Given the description of an element on the screen output the (x, y) to click on. 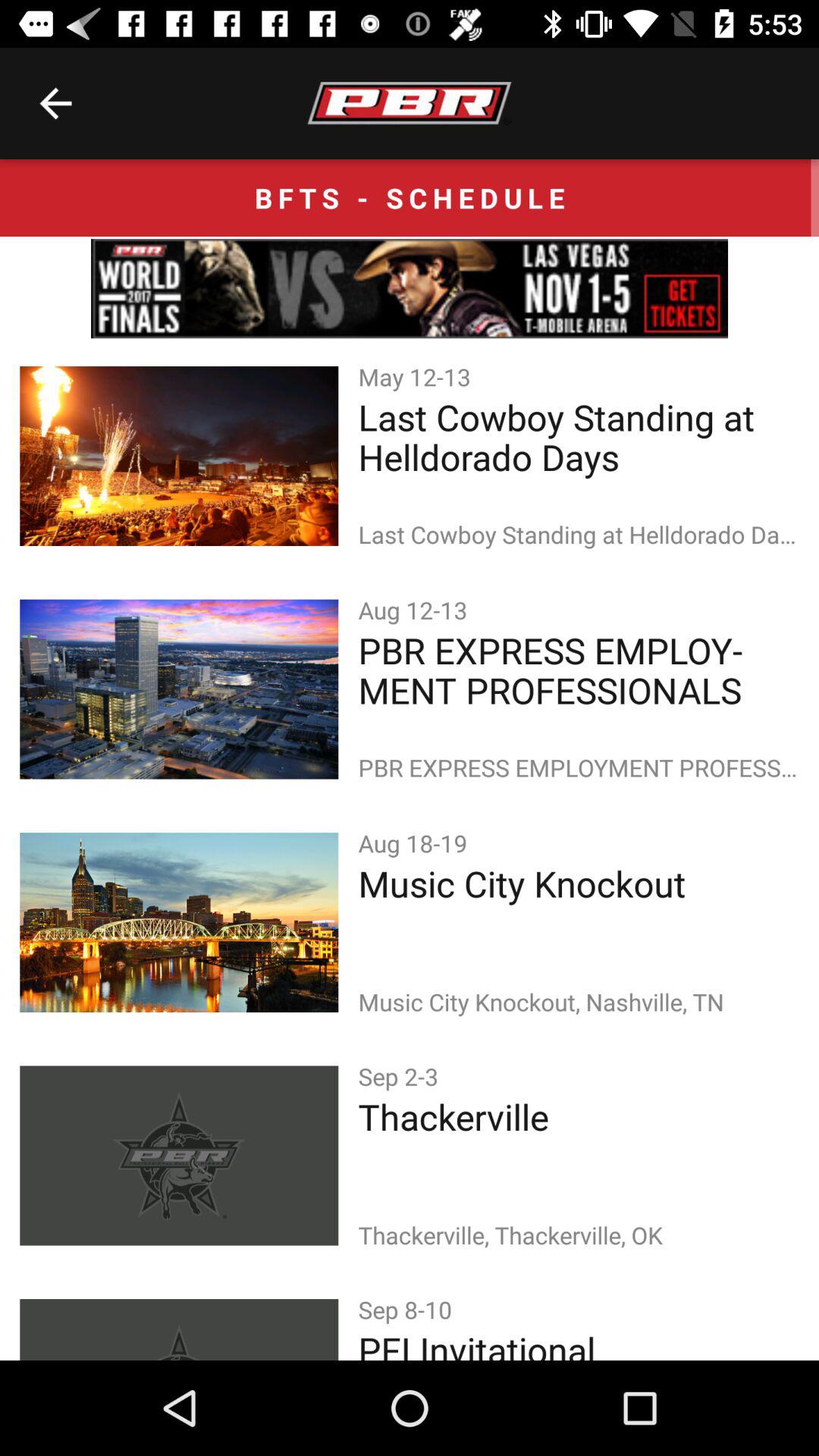
tap item above bfts - schedule item (55, 103)
